Given the description of an element on the screen output the (x, y) to click on. 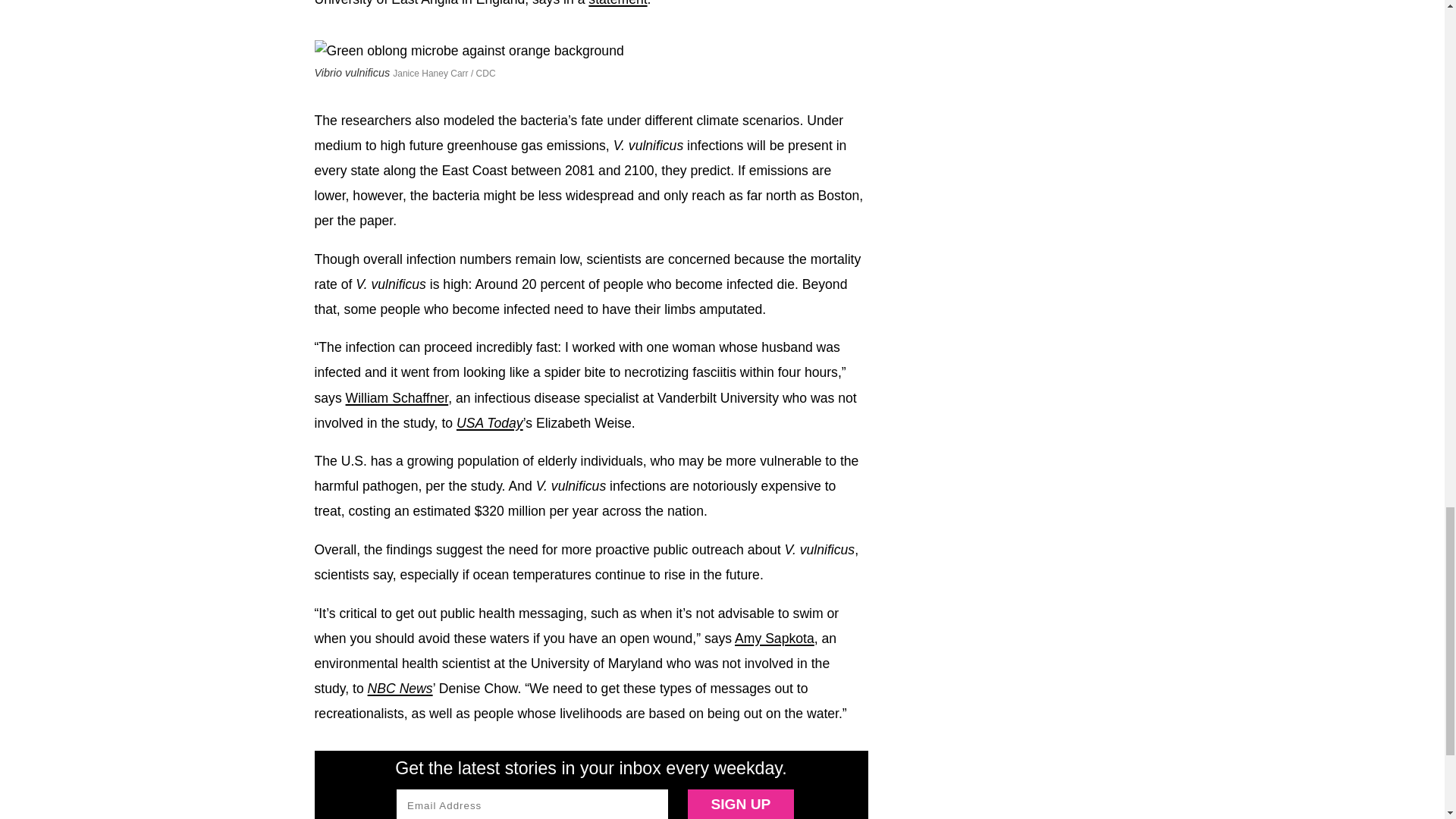
Sign Up (740, 804)
